Given the description of an element on the screen output the (x, y) to click on. 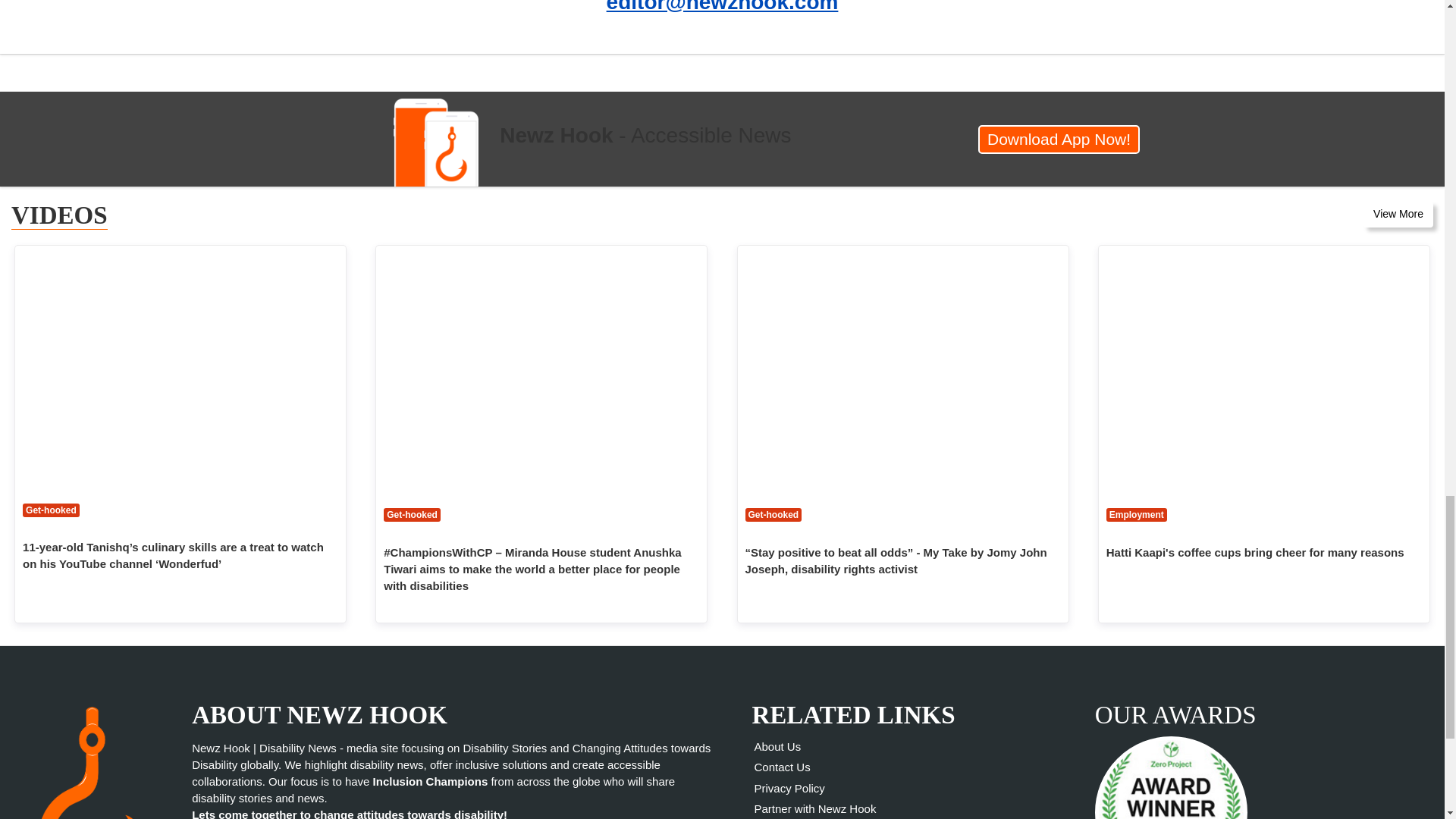
Hatti Kaapis coffee cups bring cheer for many reasons (1264, 369)
